Given the description of an element on the screen output the (x, y) to click on. 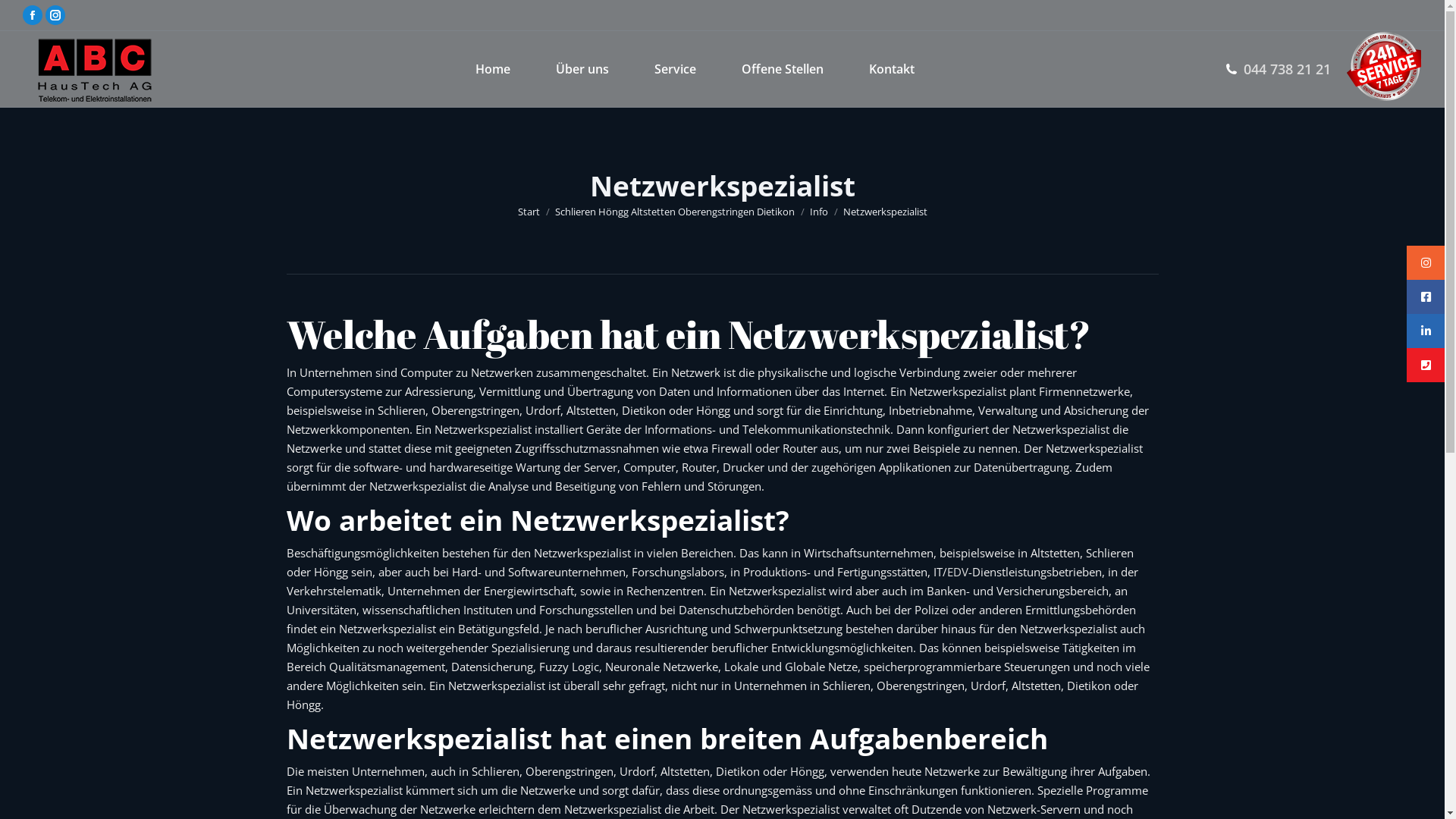
Instagram page opens in new window Element type: text (55, 15)
Offene Stellen Element type: text (782, 68)
044 738 21 21 Element type: text (1286, 68)
Facebook page opens in new window Element type: text (32, 15)
Info Element type: text (818, 211)
Start Element type: text (528, 211)
EDV Element type: text (956, 571)
Service Element type: text (674, 68)
Kontakt Element type: text (891, 68)
Home Element type: text (492, 68)
